Given the description of an element on the screen output the (x, y) to click on. 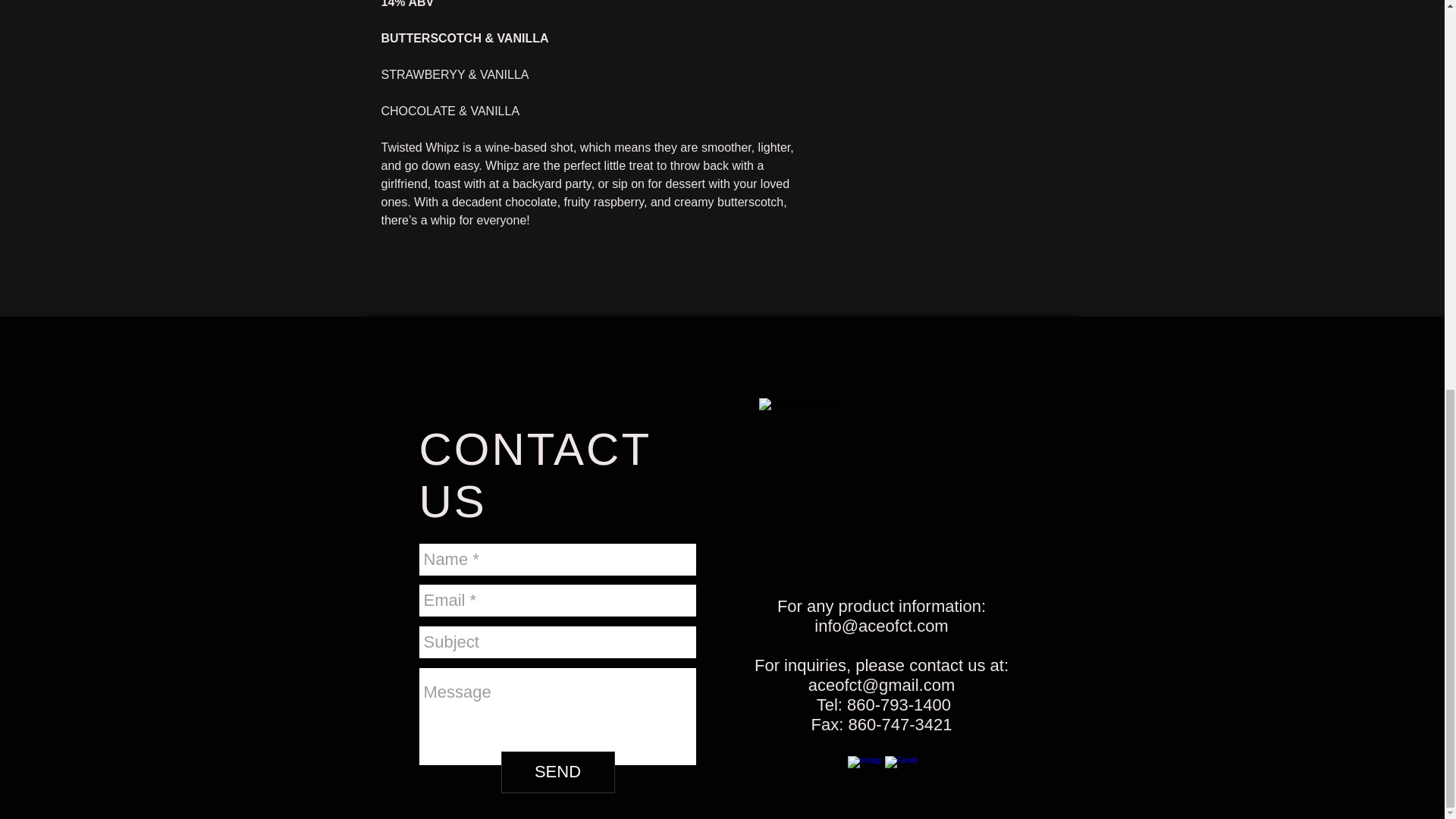
SEND (557, 772)
